Given the description of an element on the screen output the (x, y) to click on. 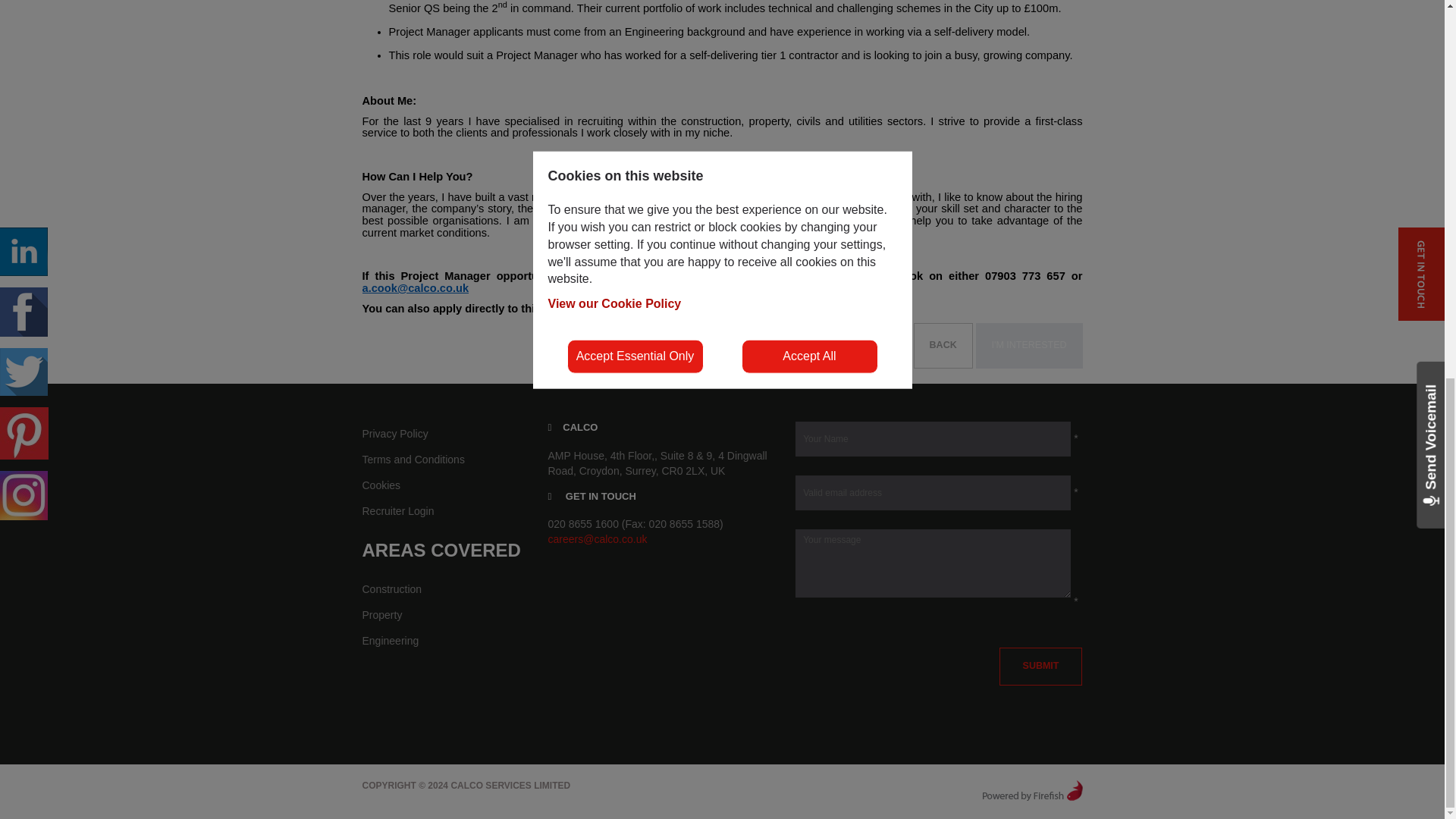
Terms and Conditions (443, 460)
Construction (443, 589)
Recruitment Software - Firefish Software (1031, 788)
Cookies (443, 485)
Back (943, 345)
submit (1040, 666)
Privacy Policy (443, 434)
Back (943, 345)
Recruiter Login (443, 511)
I'm interested (1029, 345)
